Given the description of an element on the screen output the (x, y) to click on. 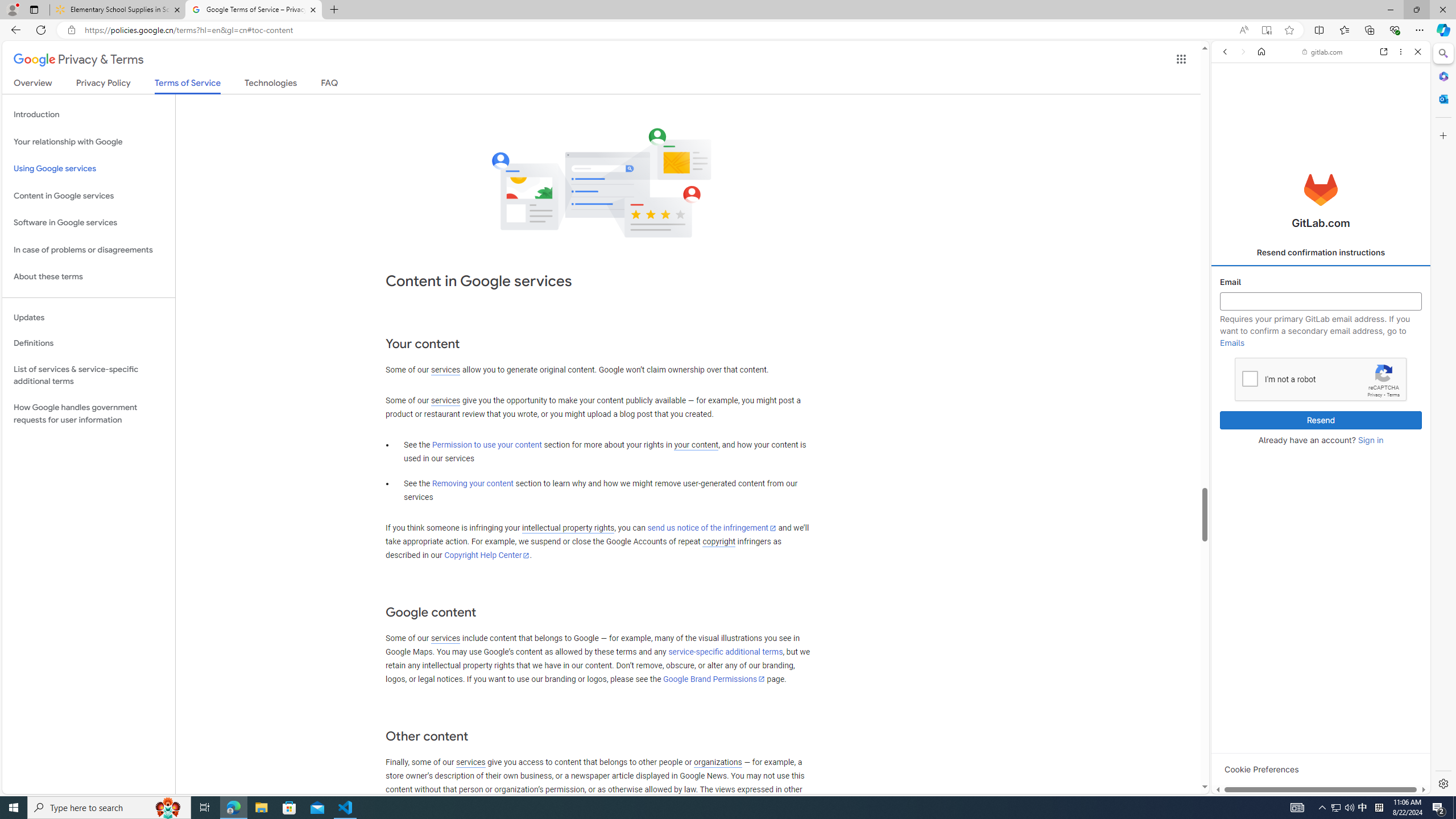
Email (1321, 301)
I'm not a robot (1249, 378)
Cookie Preferences (1261, 769)
GitLab.com (1321, 189)
Resend confirmation instructions (1321, 252)
Dashboard (1320, 364)
Emails (1232, 342)
